Given the description of an element on the screen output the (x, y) to click on. 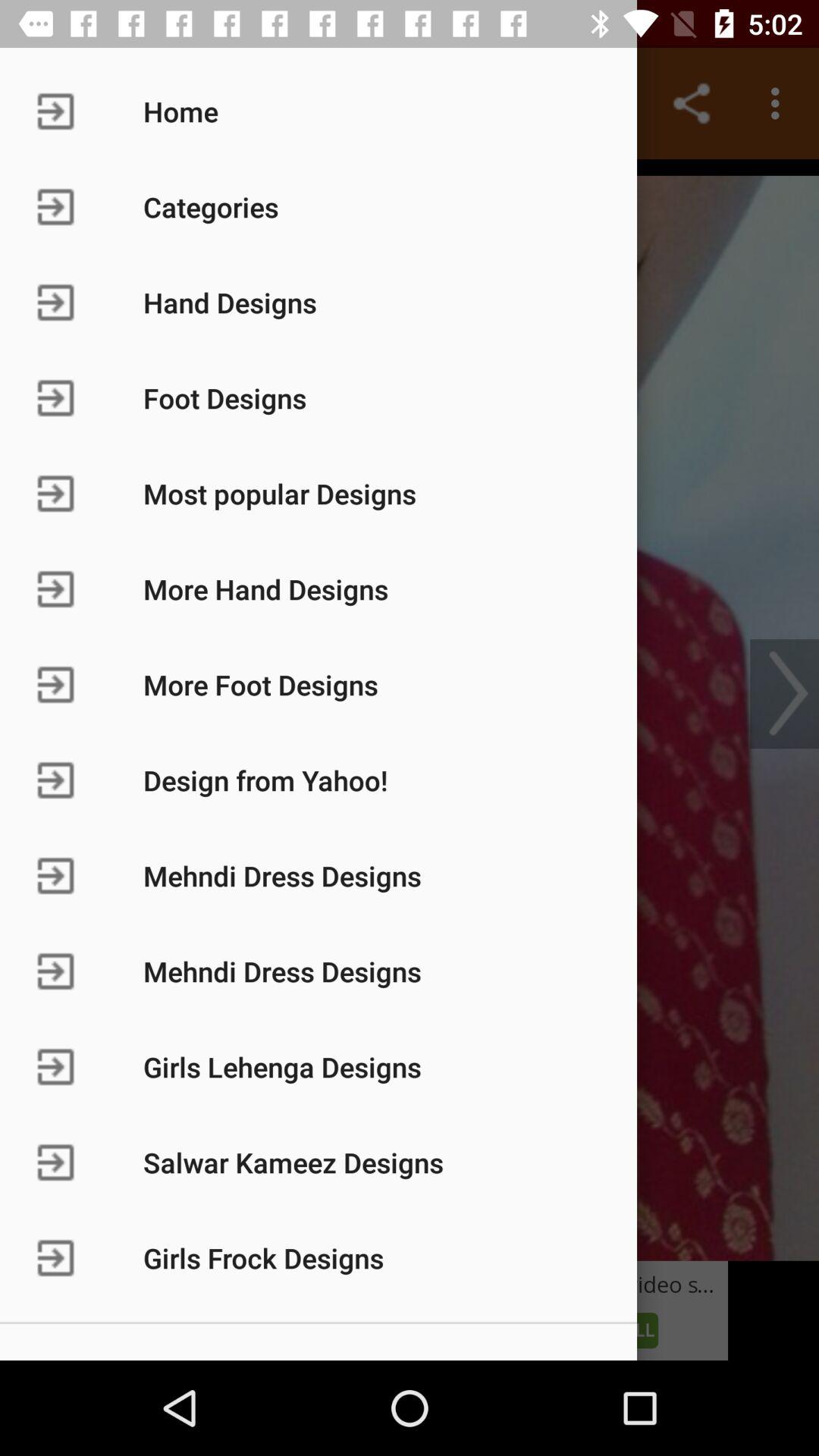
select menu option (409, 709)
